Given the description of an element on the screen output the (x, y) to click on. 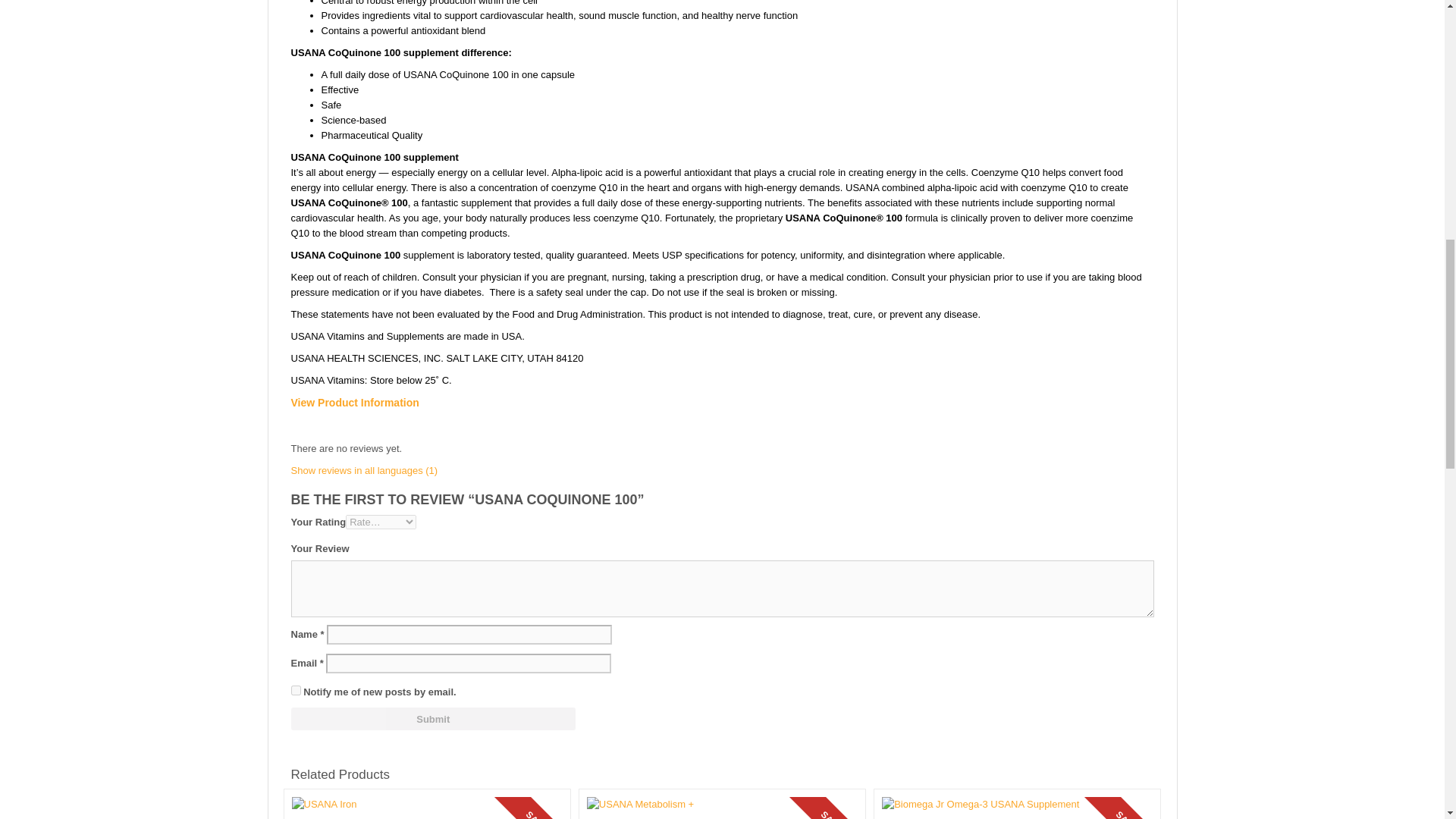
subscribe (296, 690)
Submit (433, 718)
Read More (426, 807)
Read More (721, 807)
product ingredients (355, 402)
Read More (1017, 807)
